Given the description of an element on the screen output the (x, y) to click on. 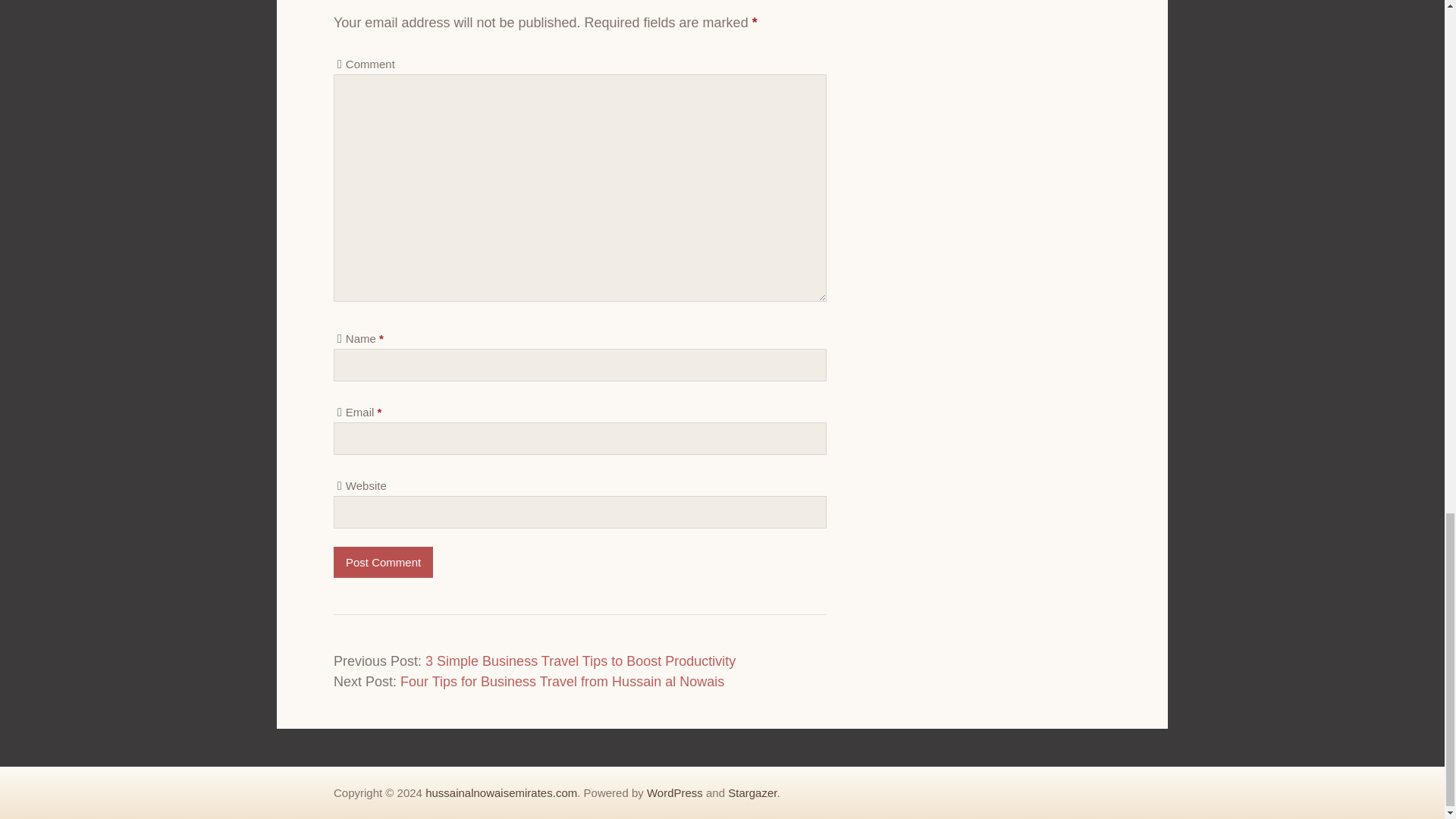
Post Comment (382, 562)
Four Tips for Business Travel from Hussain al Nowais (561, 681)
Post Comment (382, 562)
3 Simple Business Travel Tips to Boost Productivity (580, 661)
